Given the description of an element on the screen output the (x, y) to click on. 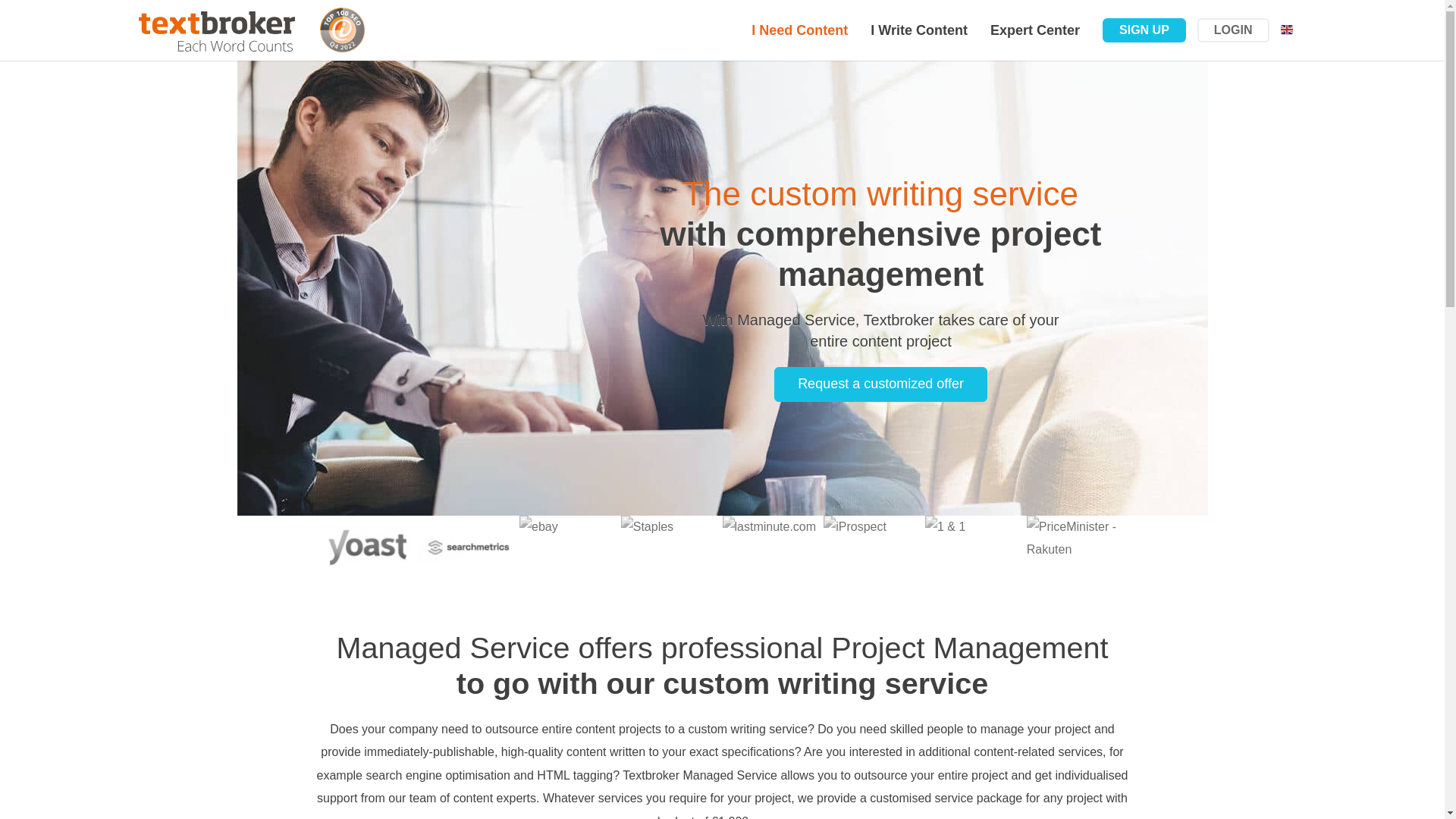
textbroker.co.uk (217, 30)
LOGIN (1232, 30)
I Need Content (799, 30)
SIGN UP (1144, 30)
I Write Content (918, 30)
